Given the description of an element on the screen output the (x, y) to click on. 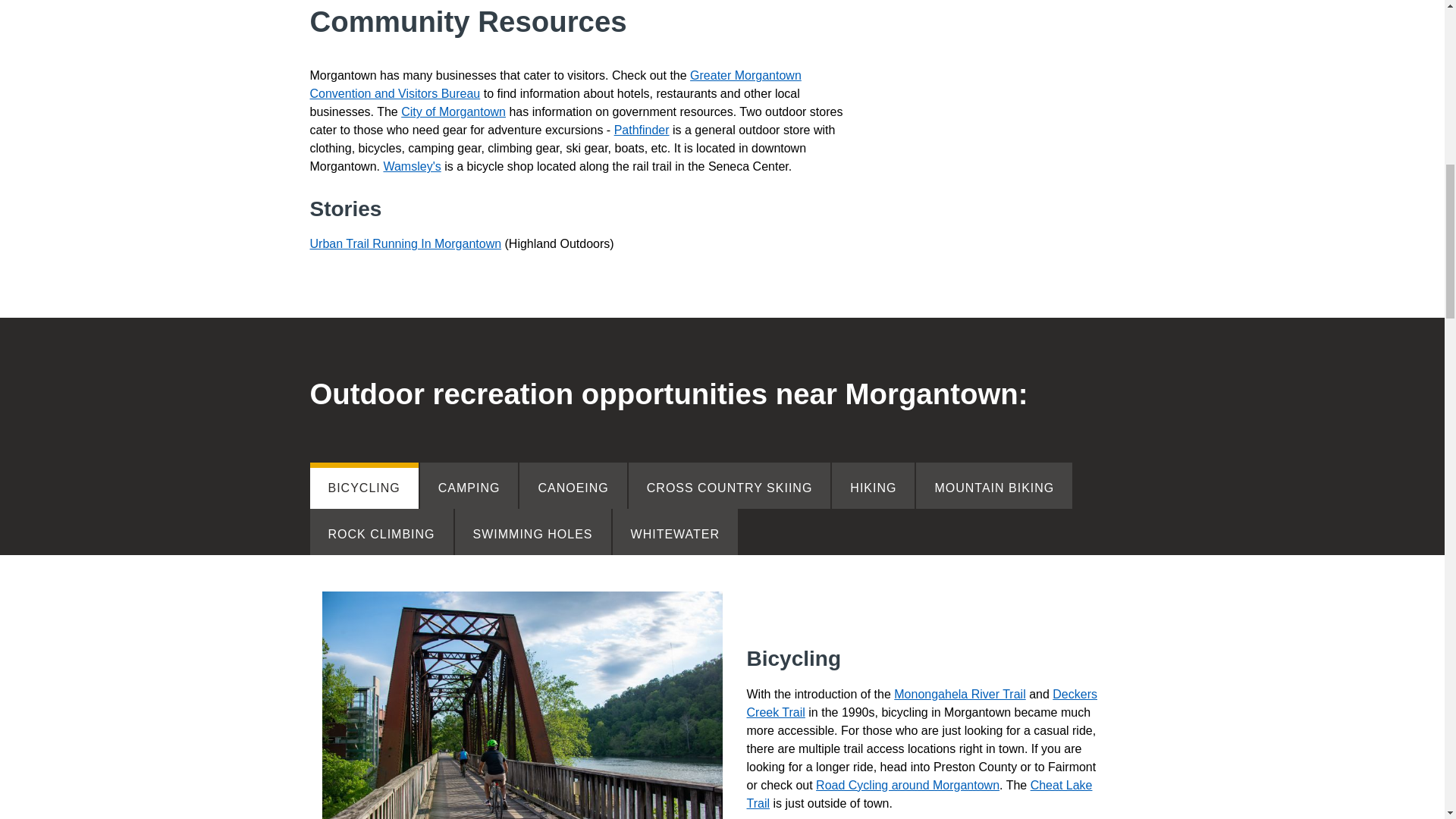
MOUNTAIN BIKING (993, 485)
Urban Trail Running In Morgantown (404, 243)
ROCK CLIMBING (380, 531)
HIKING (872, 485)
Pathfinder (641, 129)
City of Morgantown (453, 111)
CANOEING (572, 485)
Wamsley's (411, 165)
Greater Morgantown Convention and Visitors Bureau (554, 83)
CAMPING (469, 485)
BICYCLING (362, 485)
CROSS COUNTRY SKIING (729, 485)
